Given the description of an element on the screen output the (x, y) to click on. 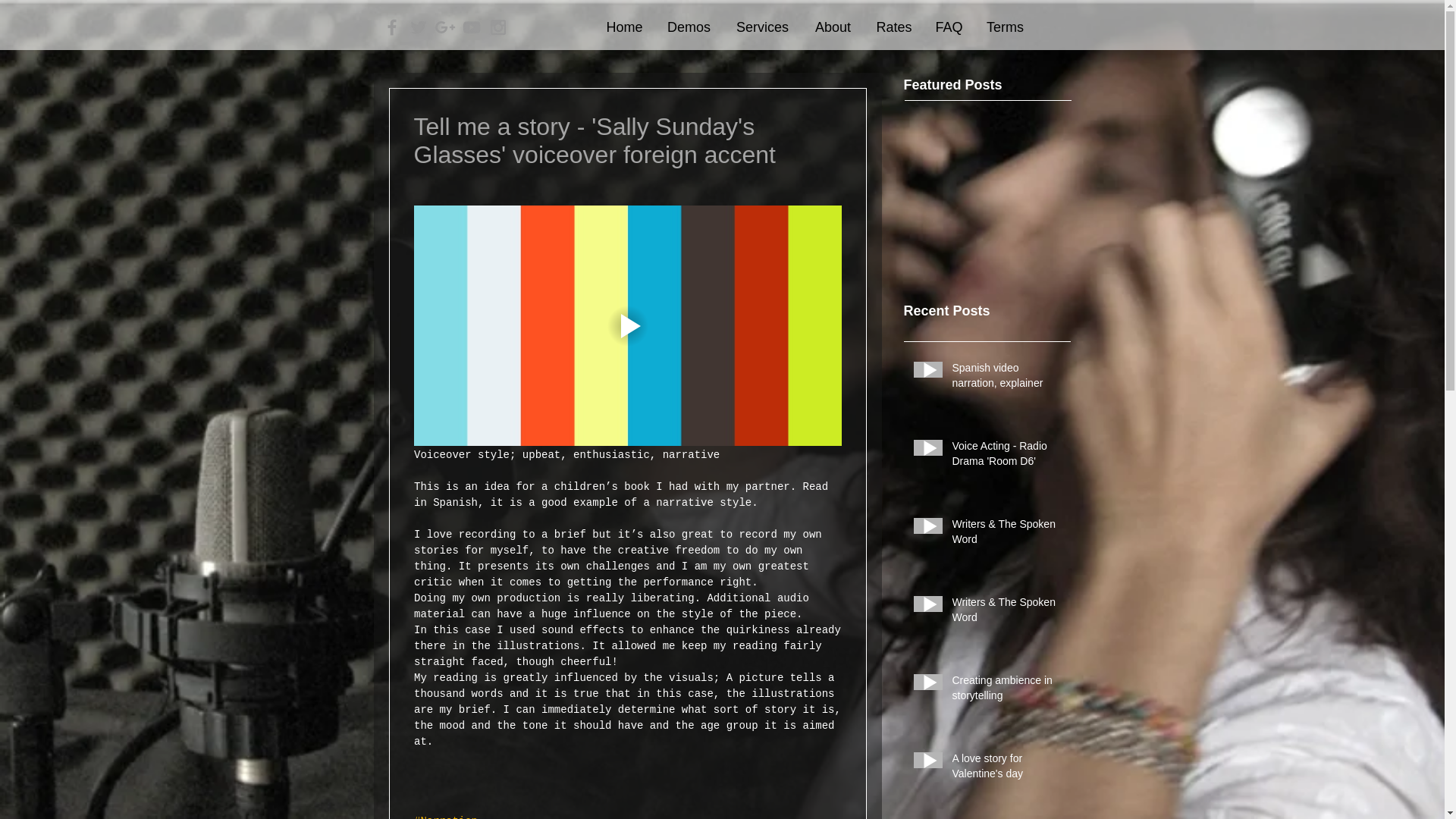
Creating ambience in storytelling (1006, 691)
Demos (689, 26)
Terms (1004, 26)
A love story for Valentine's day (1006, 769)
Voice Acting - Radio Drama 'Room D6' (1006, 456)
Spanish video narration, explainer (1006, 378)
Services (762, 26)
FAQ (948, 26)
About (833, 26)
Home (624, 26)
